Given the description of an element on the screen output the (x, y) to click on. 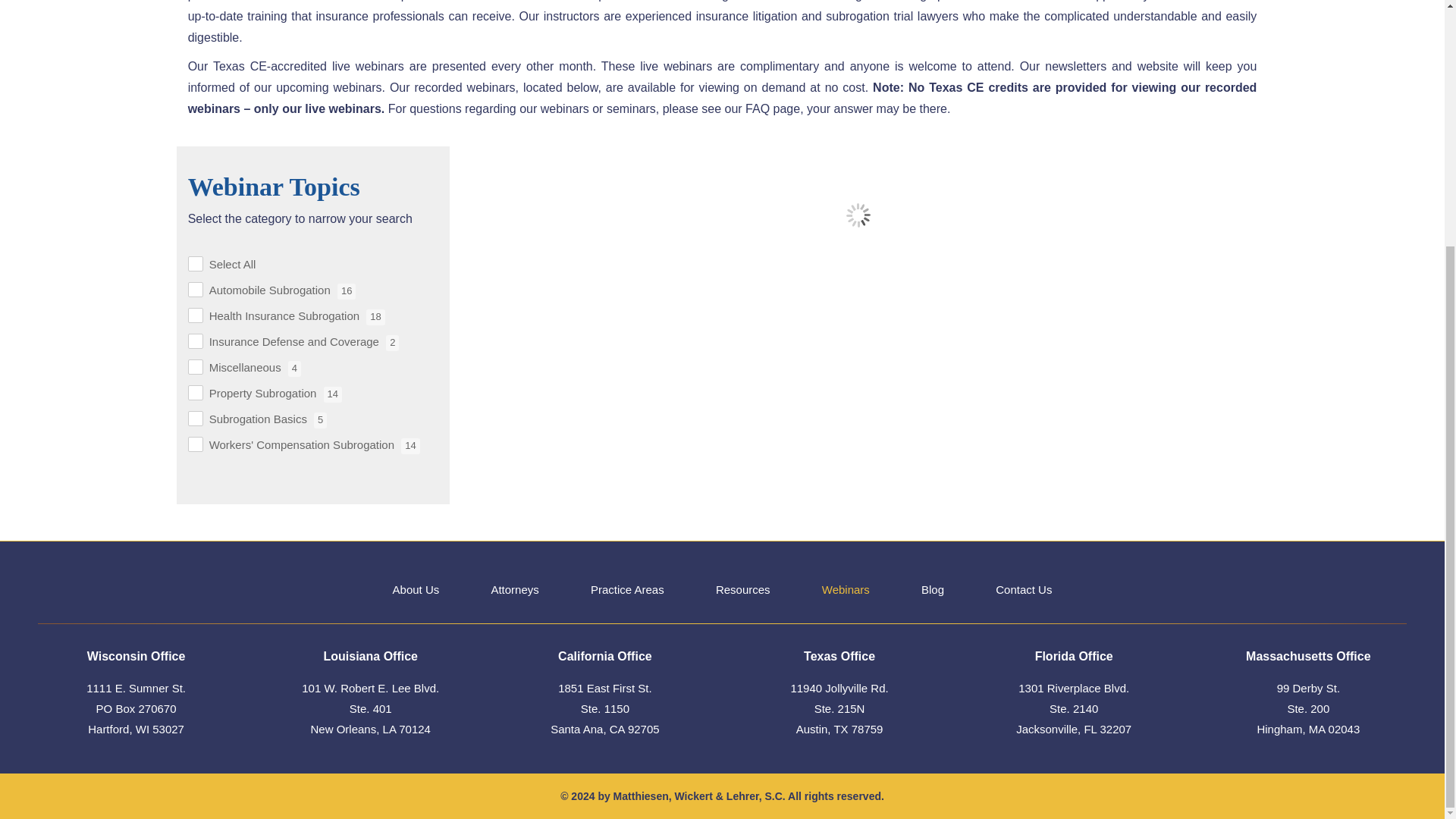
14 results for Property Subrogation (332, 394)
5 results for Subrogation Basics (320, 420)
2 results for Insurance Defense and Coverage (391, 342)
16 results for Automobile Subrogation (346, 291)
14 results for Workers' Compensation Subrogation (410, 446)
18 results for Health Insurance Subrogation (375, 317)
4 results for Miscellaneous (294, 368)
